Given the description of an element on the screen output the (x, y) to click on. 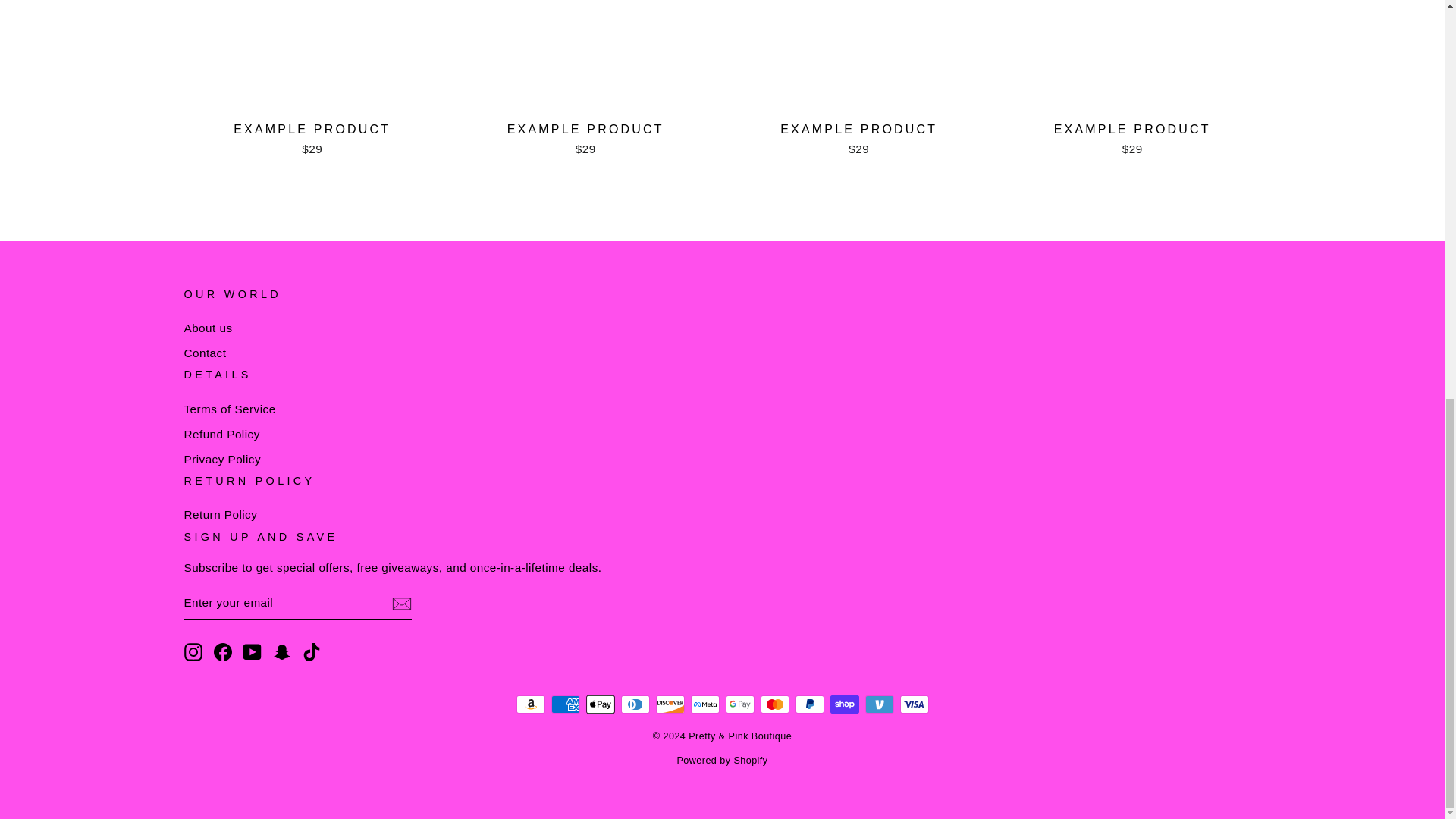
Amazon (529, 704)
American Express (564, 704)
Meta Pay (704, 704)
Discover (669, 704)
Diners Club (634, 704)
Apple Pay (599, 704)
